Given the description of an element on the screen output the (x, y) to click on. 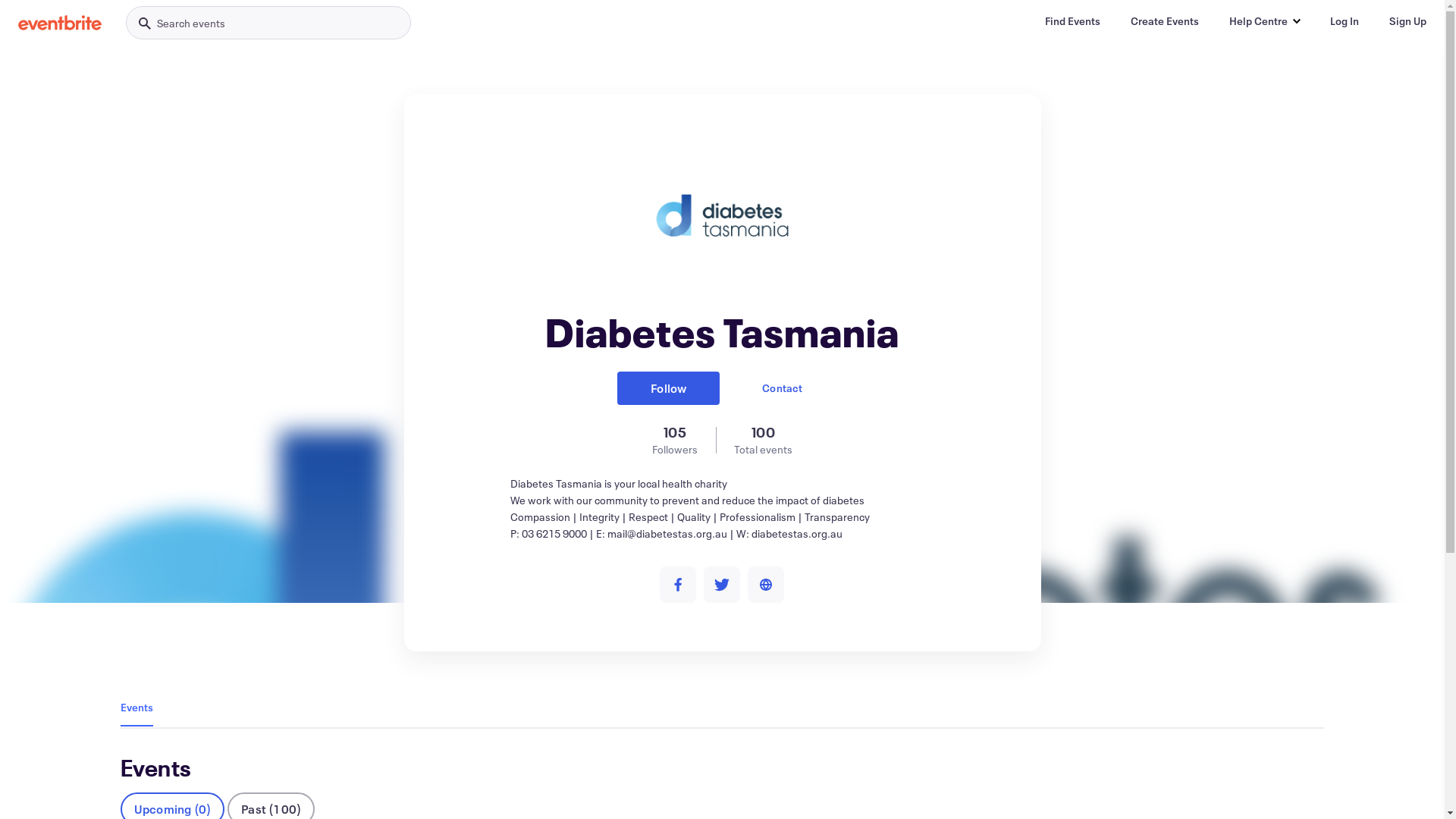
Events Element type: text (136, 706)
Eventbrite Element type: hover (59, 22)
Search events Element type: text (268, 22)
Contact Element type: text (781, 387)
Find Events Element type: text (1072, 21)
Log In Element type: text (1344, 21)
Create Events Element type: text (1164, 21)
Sign Up Element type: text (1407, 21)
Follow Element type: text (668, 387)
